Given the description of an element on the screen output the (x, y) to click on. 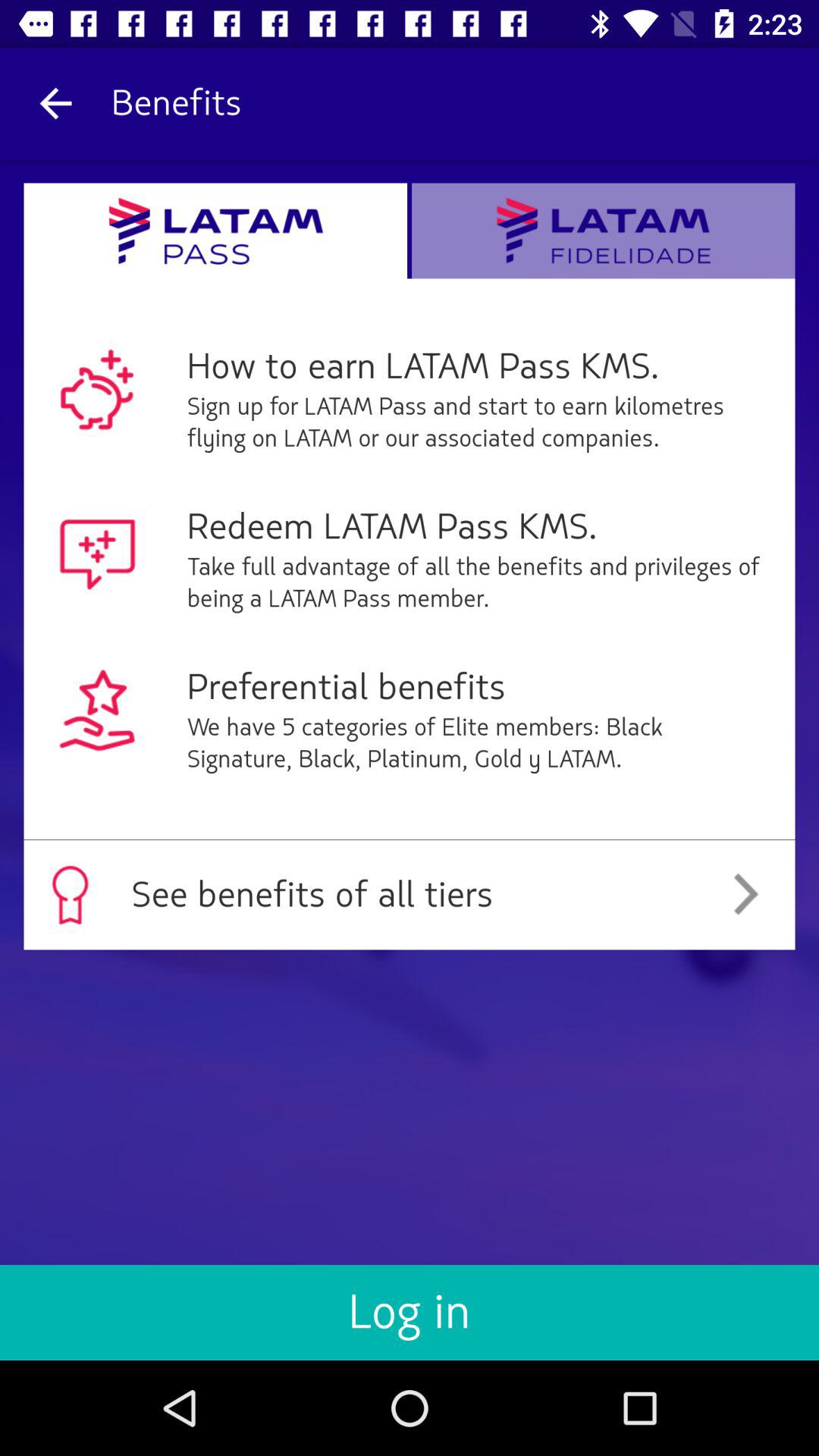
open latam pass page (215, 230)
